Given the description of an element on the screen output the (x, y) to click on. 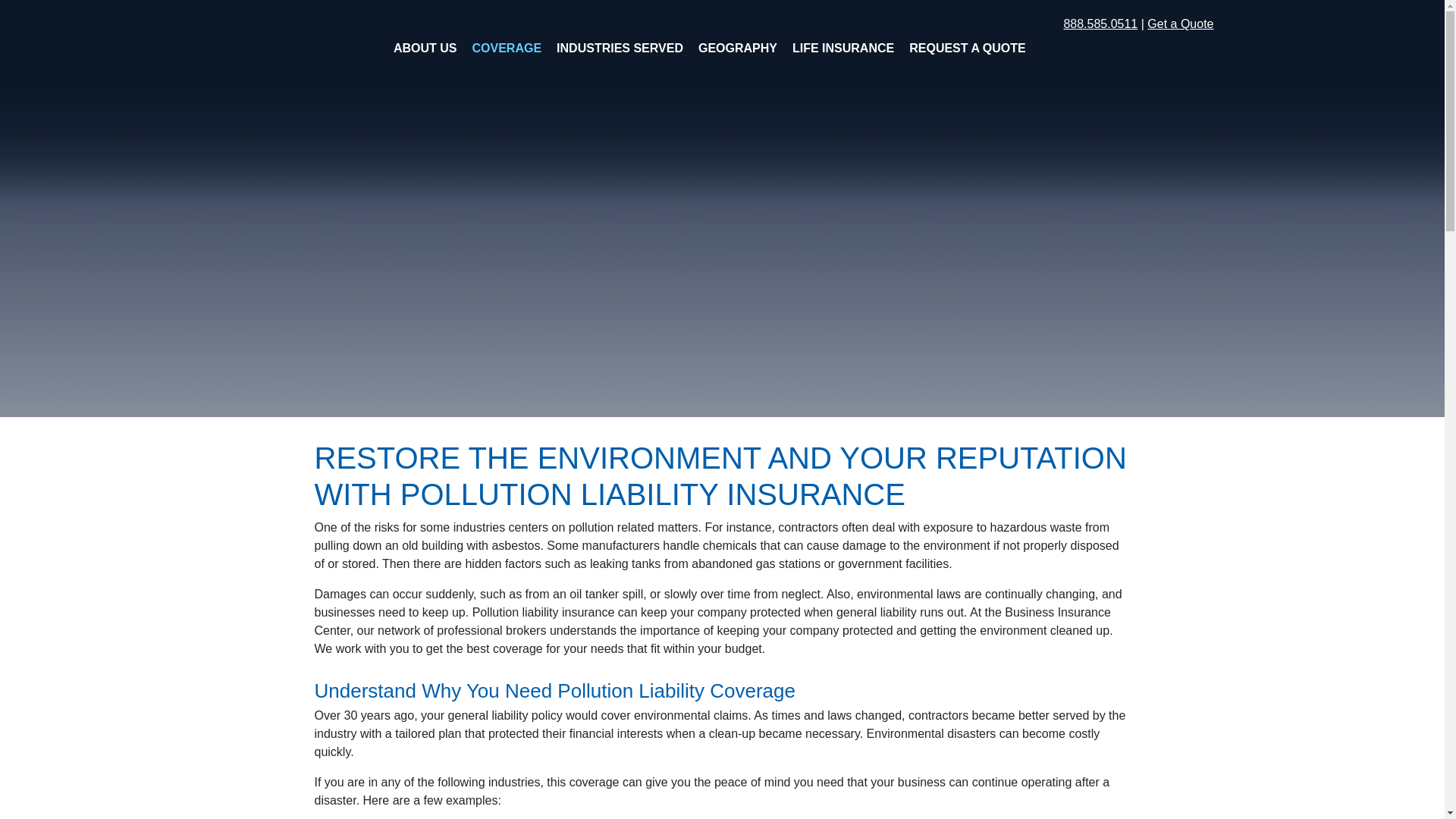
ABOUT US (424, 48)
INDUSTRIES SERVED (619, 48)
Get a Quote (1179, 23)
888.585.0511 (1099, 23)
GEOGRAPHY (737, 48)
LIFE INSURANCE (842, 48)
COVERAGE (507, 48)
